Given the description of an element on the screen output the (x, y) to click on. 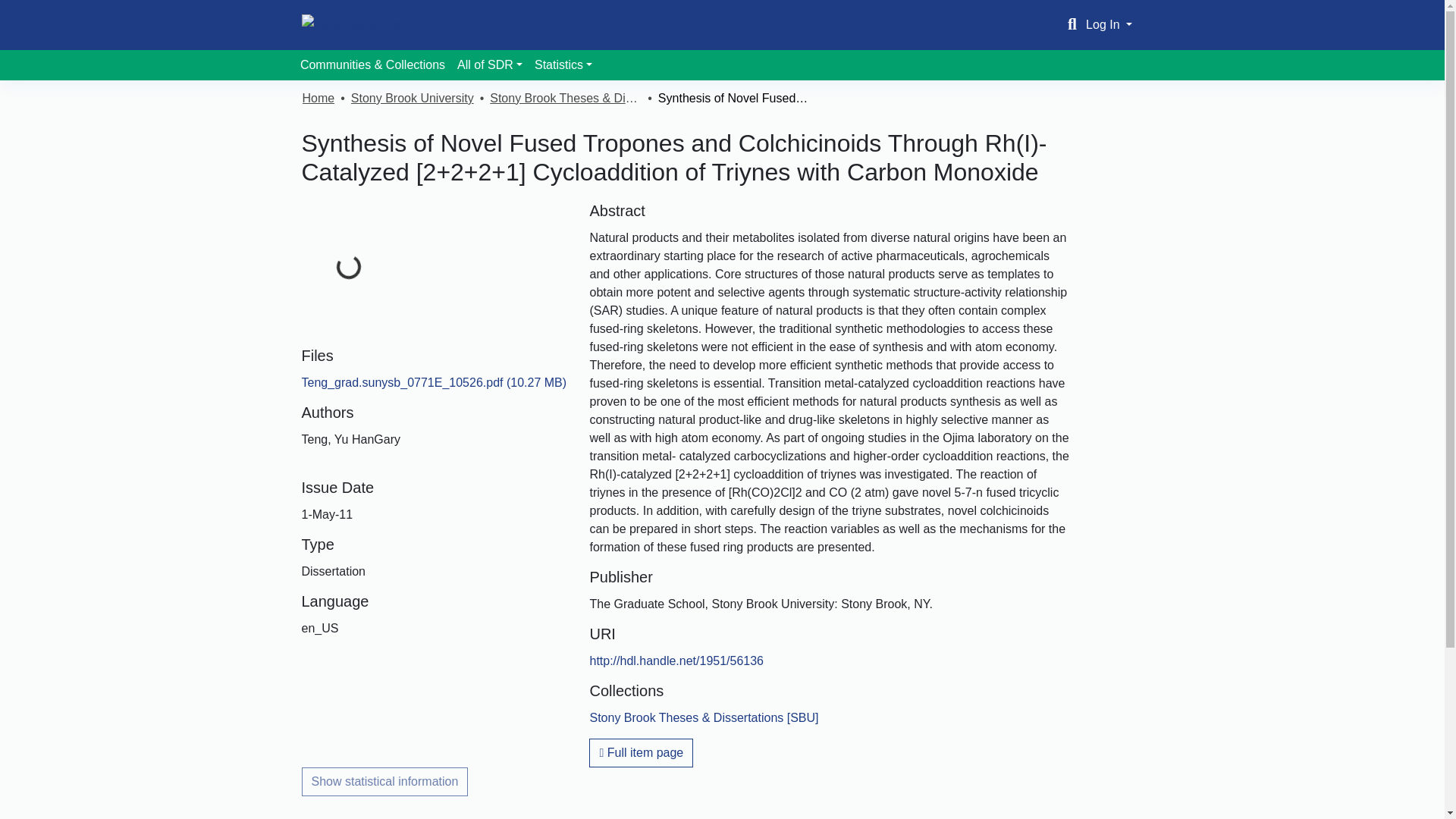
Log In (1108, 24)
Full item page (641, 752)
Stony Brook University (412, 98)
Search (1072, 24)
Home (317, 98)
All of SDR (489, 64)
Statistics (563, 64)
Show statistical information (384, 781)
